Given the description of an element on the screen output the (x, y) to click on. 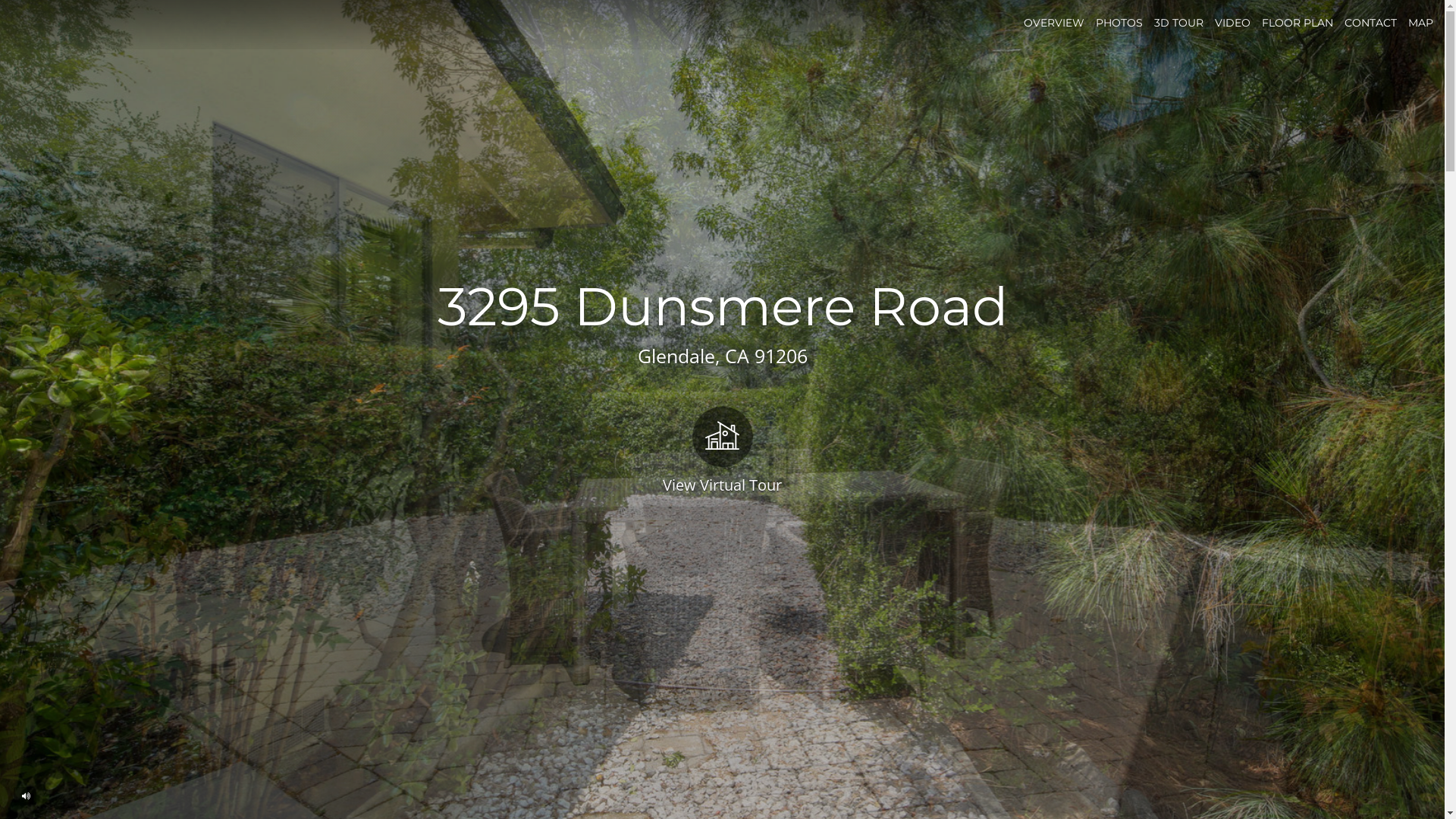
FLOOR PLAN Element type: text (1297, 22)
3D TOUR Element type: text (1178, 22)
MAP Element type: text (1420, 22)
View Virtual Tour Element type: text (722, 448)
OVERVIEW Element type: text (1053, 22)
PHOTOS Element type: text (1118, 22)
CONTACT Element type: text (1370, 22)
VIDEO Element type: text (1232, 22)
